Given the description of an element on the screen output the (x, y) to click on. 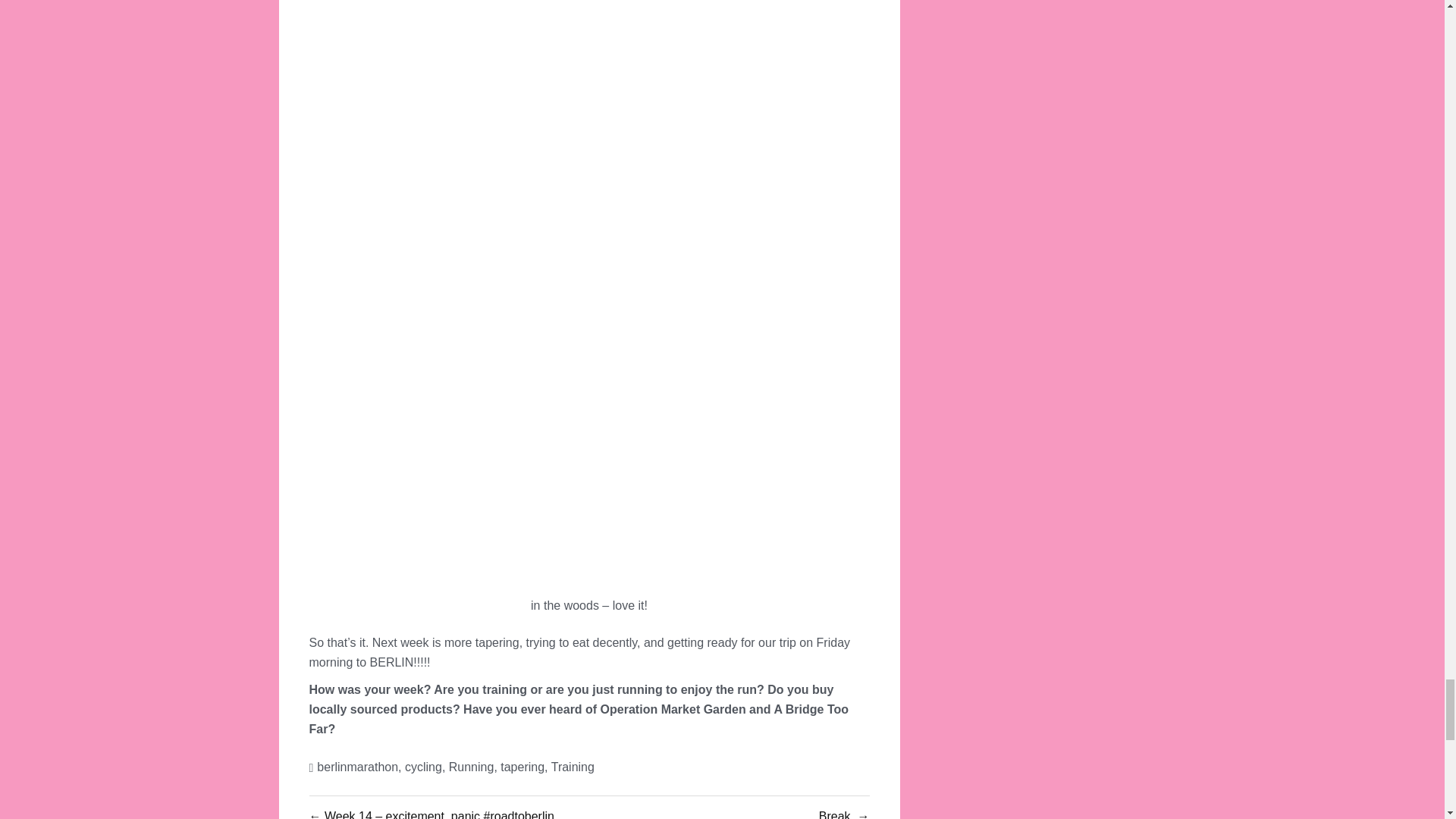
tapering (522, 766)
berlinmarathon (357, 766)
Training (572, 766)
cycling (423, 766)
Running (471, 766)
